Given the description of an element on the screen output the (x, y) to click on. 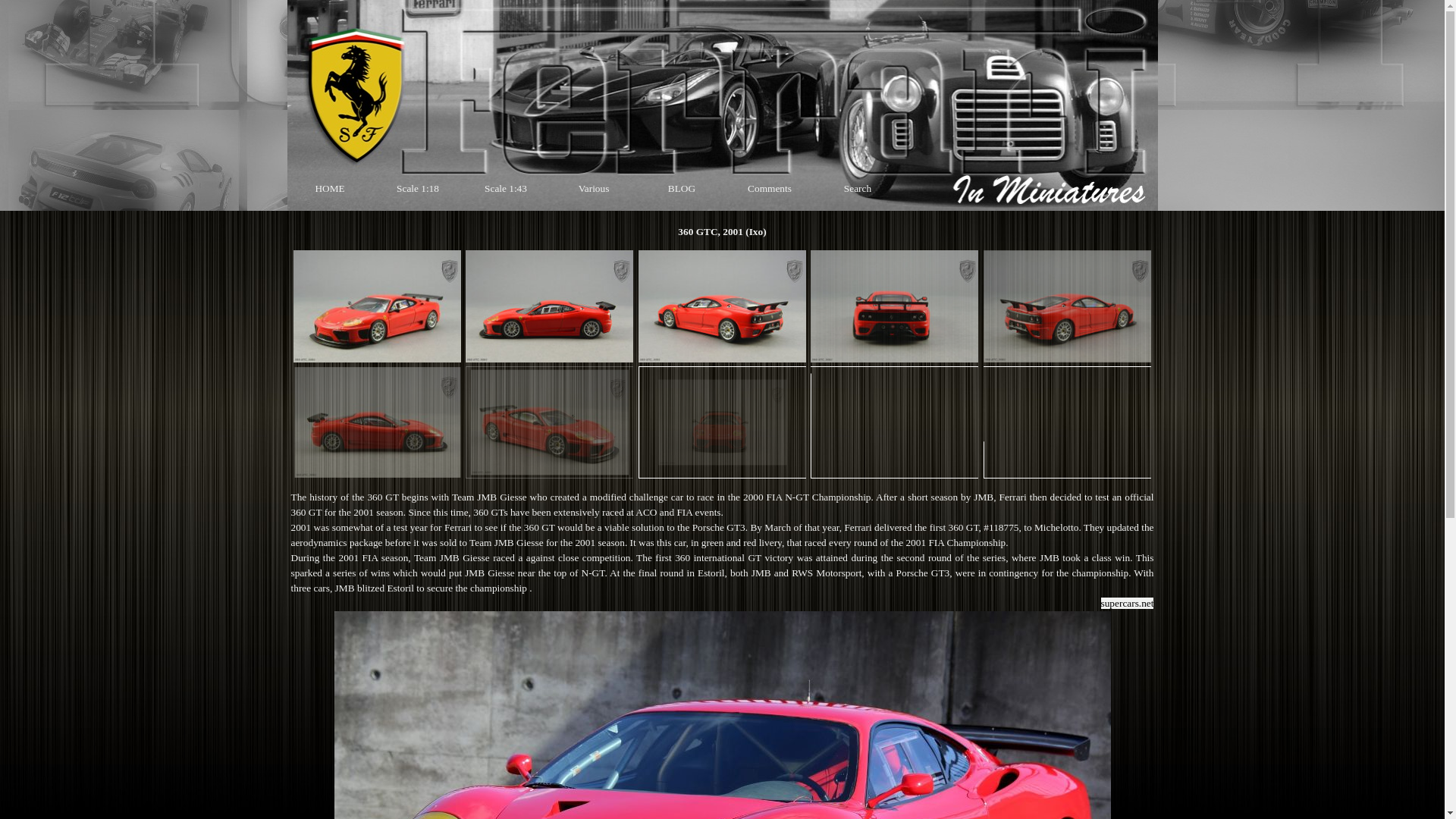
HOME (330, 188)
